Given the description of an element on the screen output the (x, y) to click on. 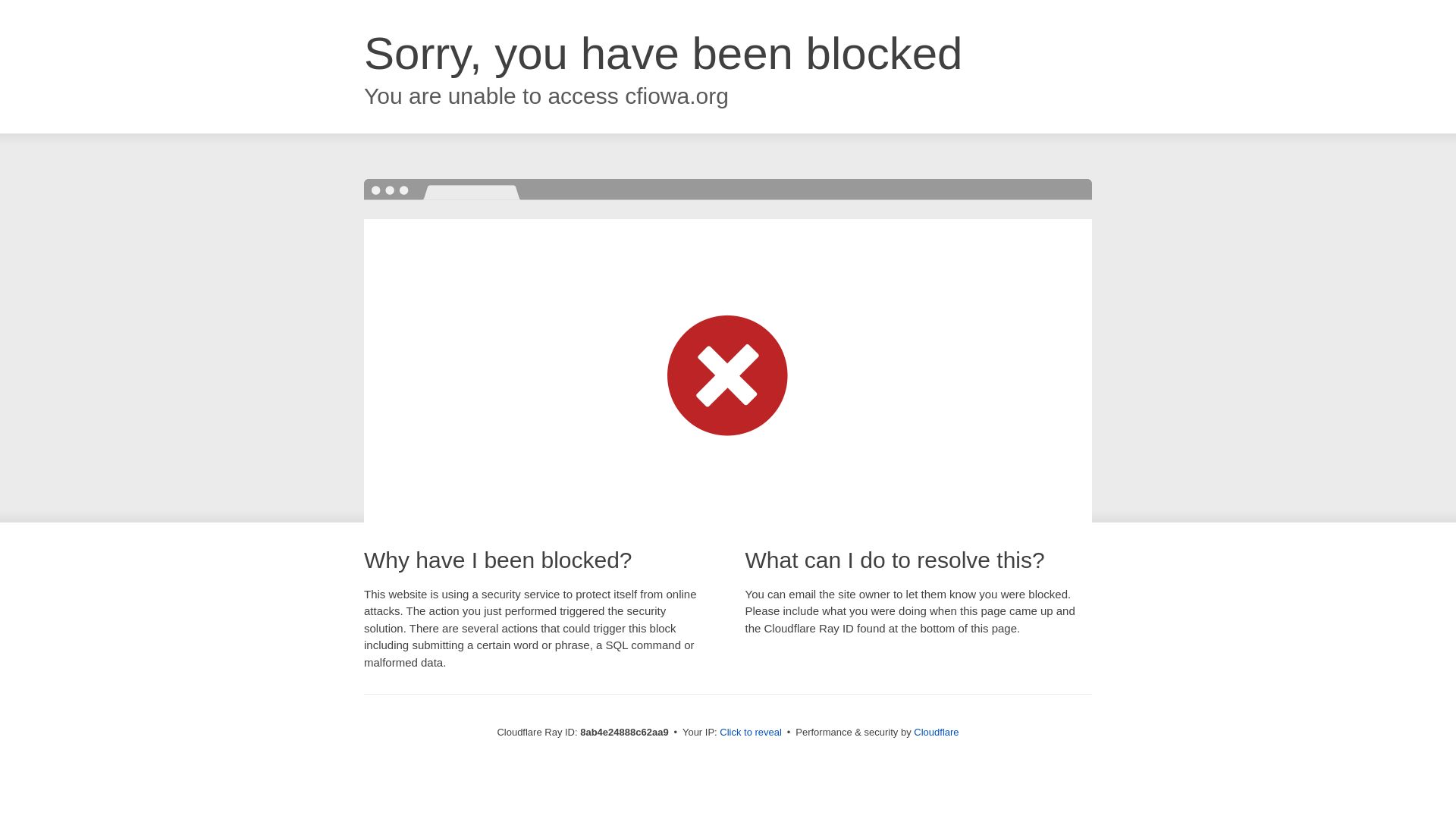
Click to reveal (750, 732)
Cloudflare (936, 731)
